Given the description of an element on the screen output the (x, y) to click on. 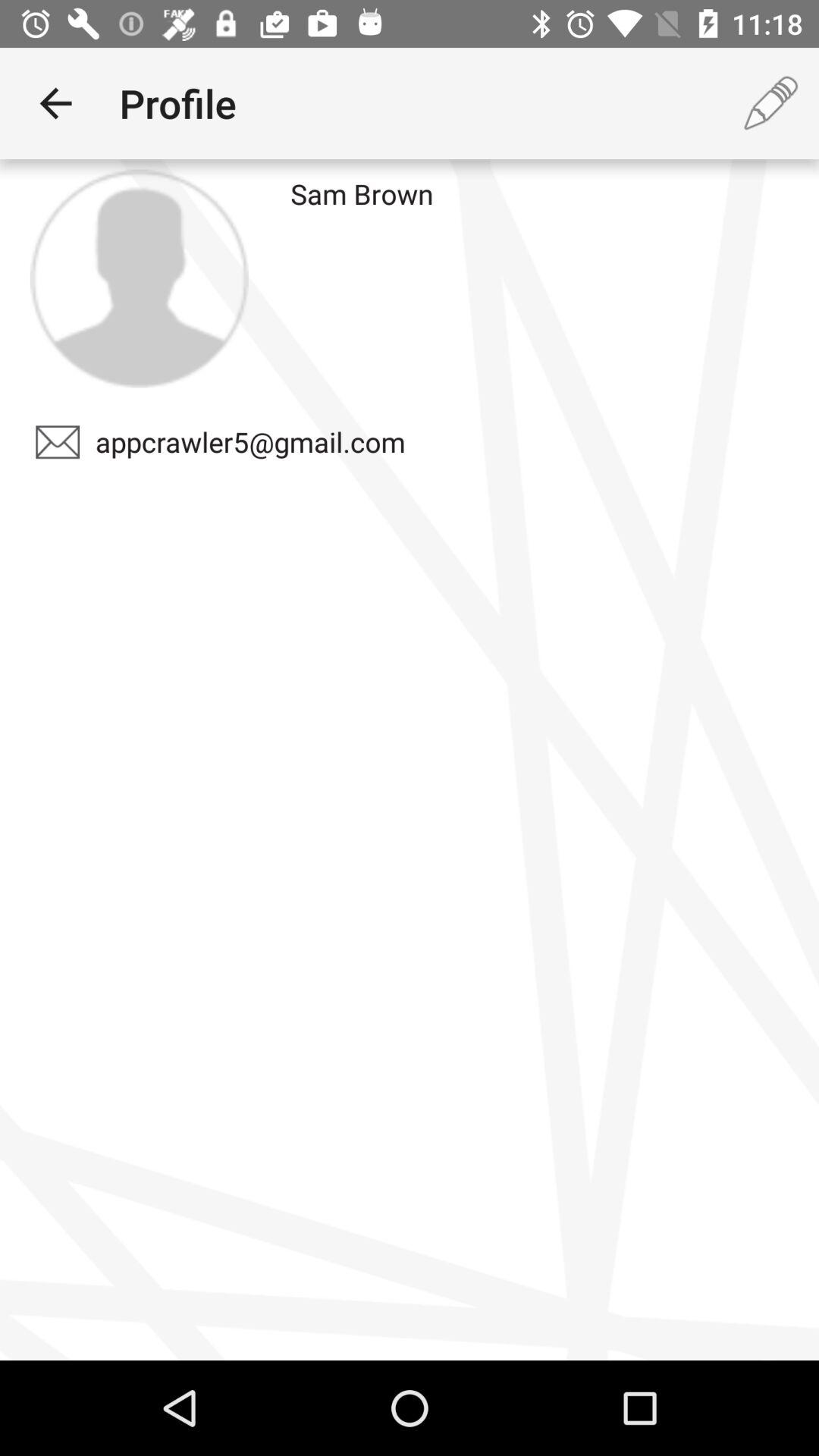
click on favorites (139, 278)
